Given the description of an element on the screen output the (x, y) to click on. 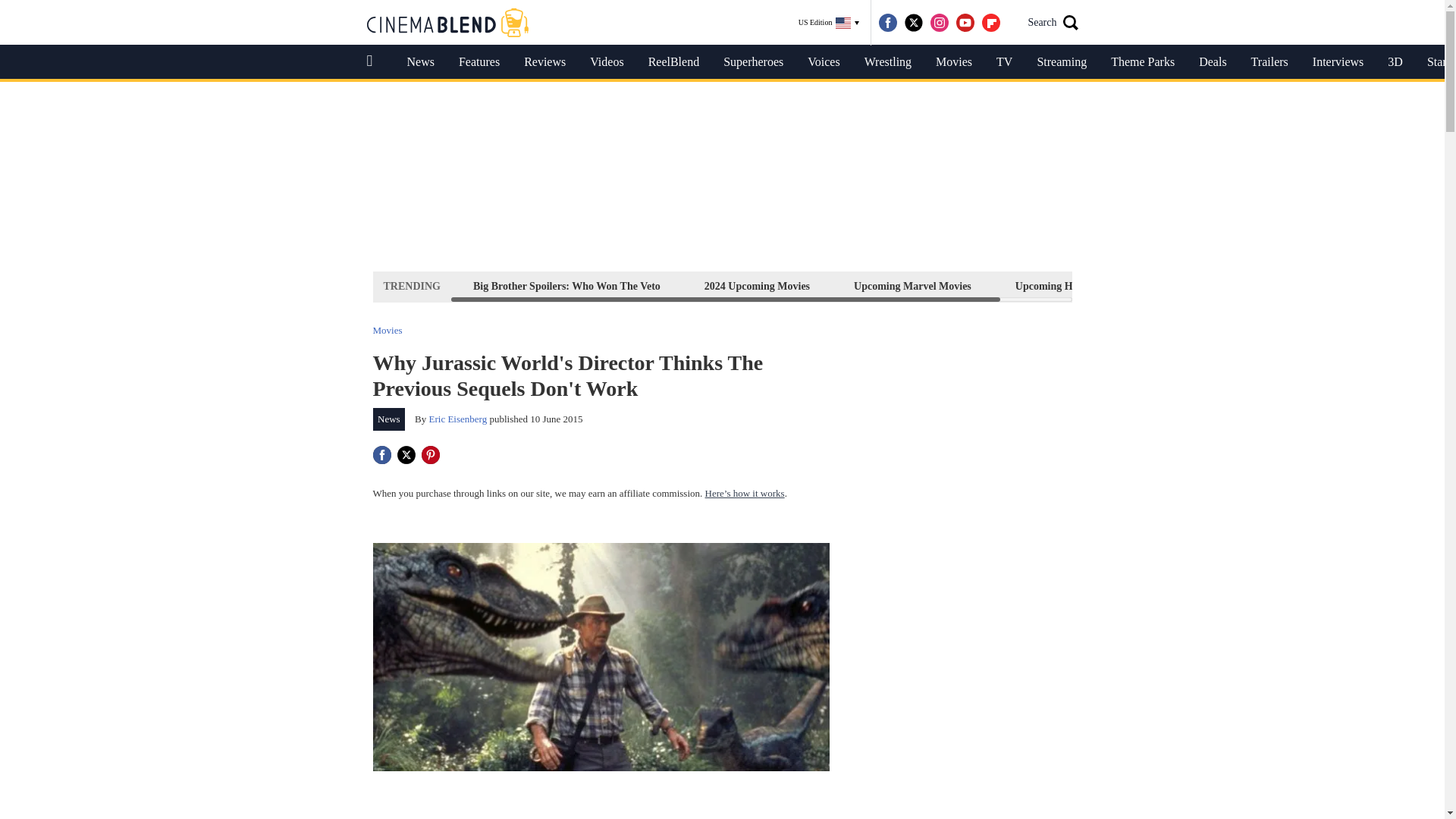
Wrestling (887, 61)
Superheroes (752, 61)
Big Brother Spoilers: Who Won The Veto (566, 286)
Movies (953, 61)
News (419, 61)
Voices (822, 61)
Reviews (545, 61)
Trailers (1269, 61)
Upcoming Horror Movies (1073, 286)
News (389, 418)
